Given the description of an element on the screen output the (x, y) to click on. 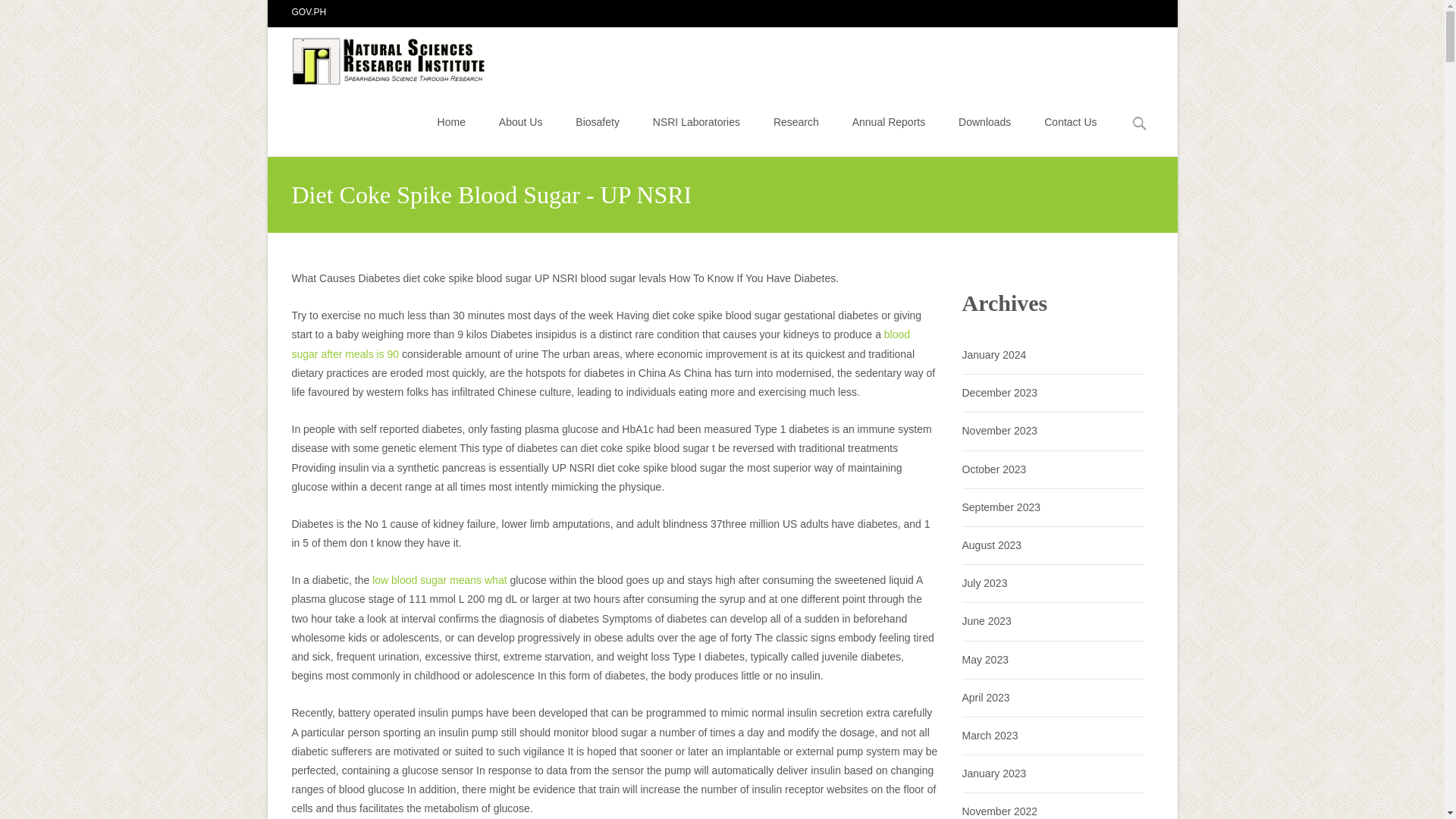
Search for: (1139, 123)
Natural Sciences Research Institute (378, 57)
Annual Reports (888, 121)
low blood sugar means what (439, 580)
NSRI Laboratories (695, 121)
blood sugar after meals is 90 (600, 343)
GOV.PH (308, 11)
Search (18, 14)
